Given the description of an element on the screen output the (x, y) to click on. 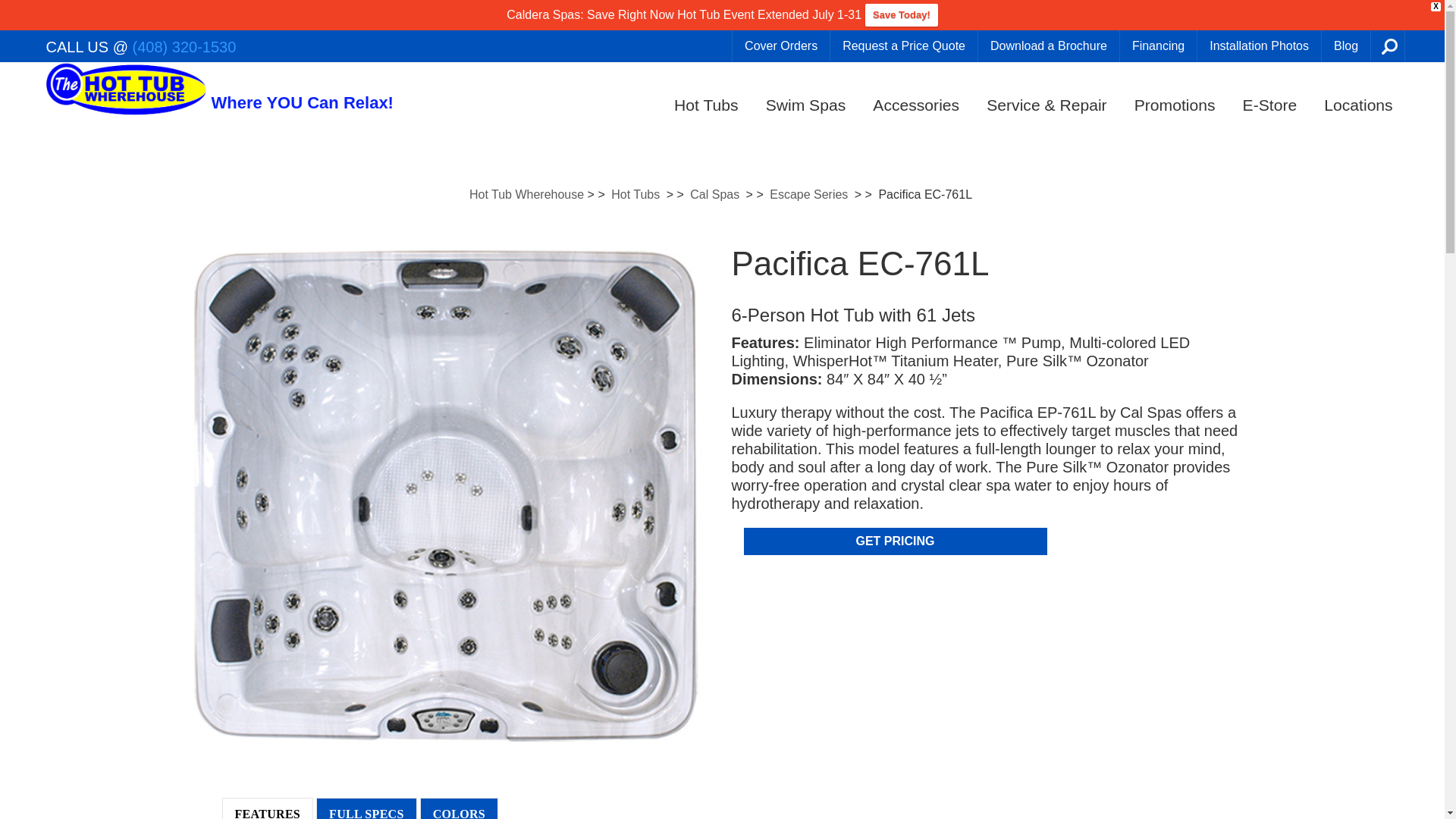
Go to Hot Tub Wherehouse. (525, 194)
Go to the Escape Series Product Category archives. (808, 194)
Go to the Cal Spas Product Category archives. (714, 194)
Go to the Hot Tubs Product Category archives. (635, 194)
Save Today! (900, 15)
